Given the description of an element on the screen output the (x, y) to click on. 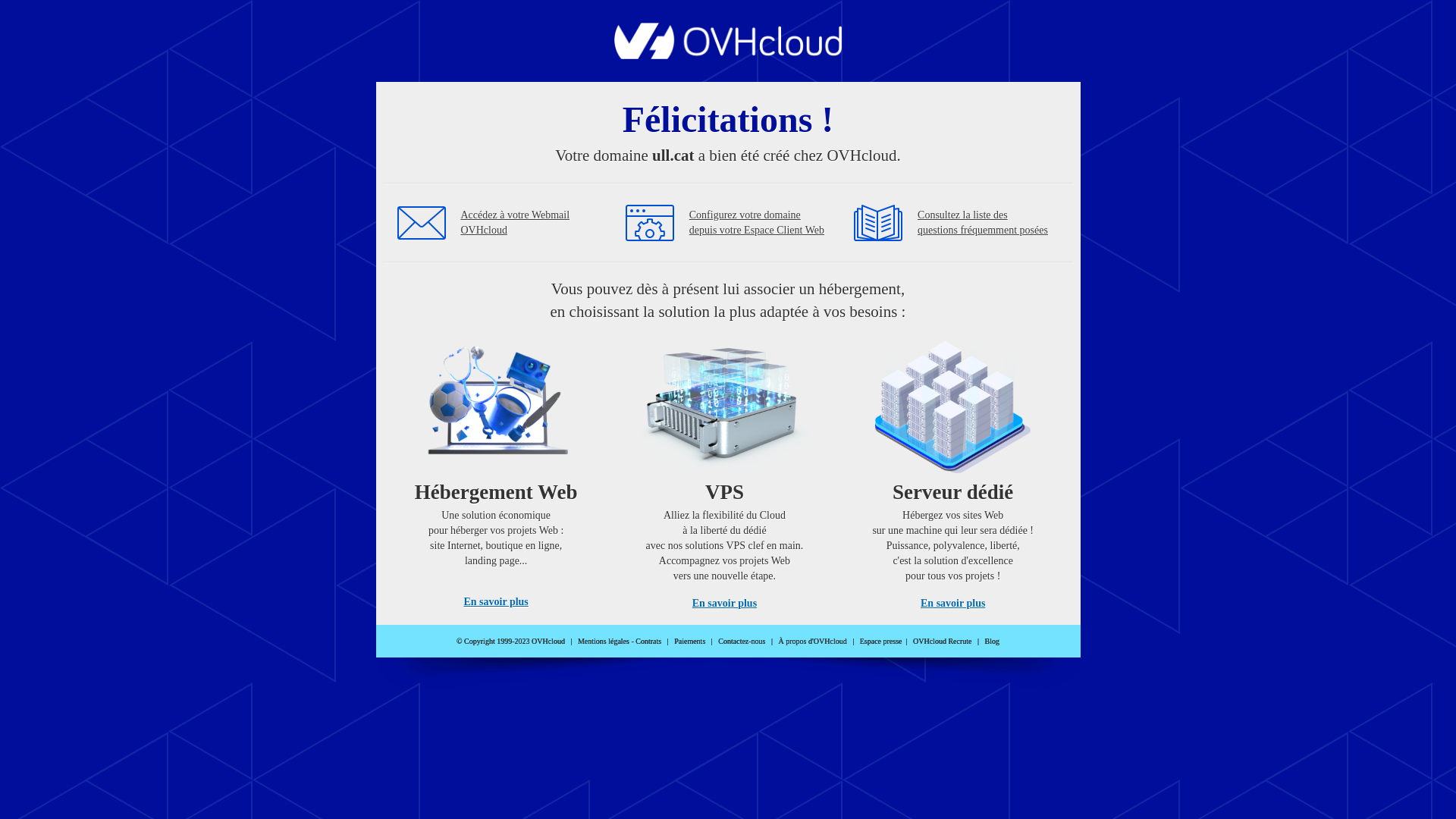
VPS Element type: hover (724, 469)
OVHcloud Element type: hover (727, 54)
En savoir plus Element type: text (724, 602)
OVHcloud Recrute Element type: text (942, 641)
En savoir plus Element type: text (952, 602)
Configurez votre domaine
depuis votre Espace Client Web Element type: text (756, 222)
Espace presse Element type: text (880, 641)
En savoir plus Element type: text (495, 601)
Contactez-nous Element type: text (741, 641)
Blog Element type: text (992, 641)
Paiements Element type: text (689, 641)
